Given the description of an element on the screen output the (x, y) to click on. 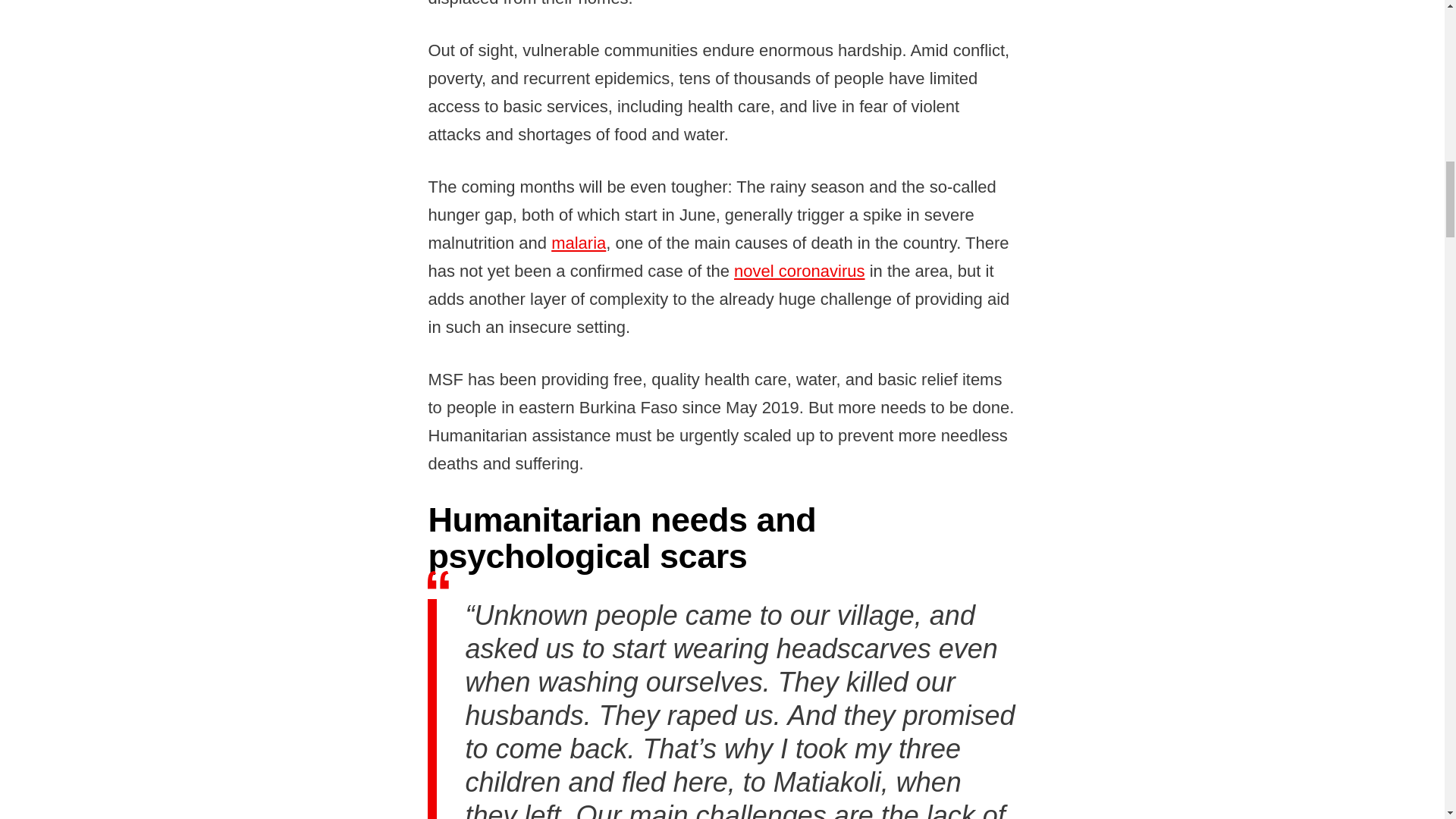
COVID-19: Our global response (798, 270)
